Given the description of an element on the screen output the (x, y) to click on. 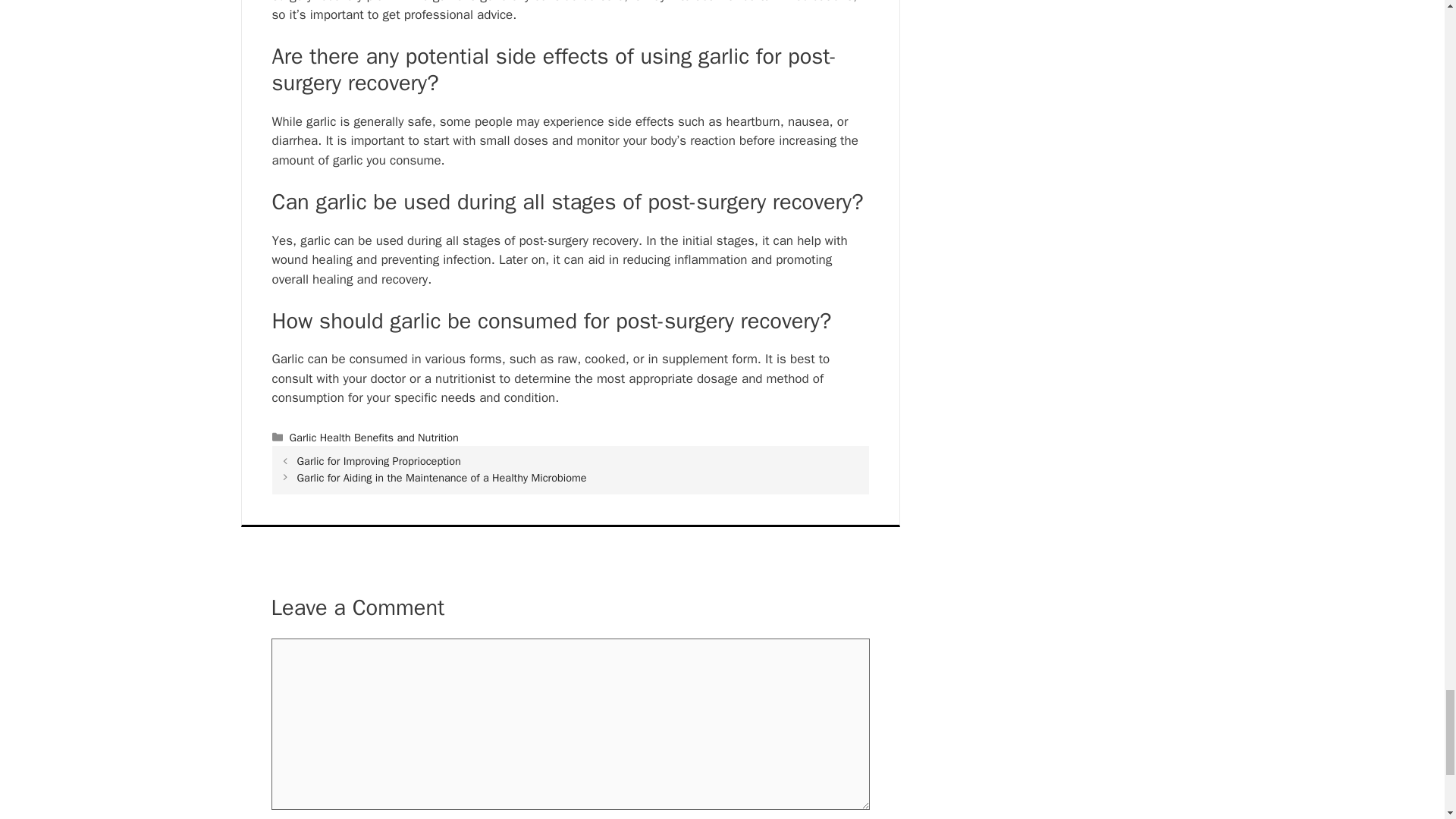
Garlic Health Benefits and Nutrition (373, 437)
Next (441, 477)
Previous (379, 460)
Garlic for Improving Proprioception (379, 460)
Garlic for Aiding in the Maintenance of a Healthy Microbiome (441, 477)
